Given the description of an element on the screen output the (x, y) to click on. 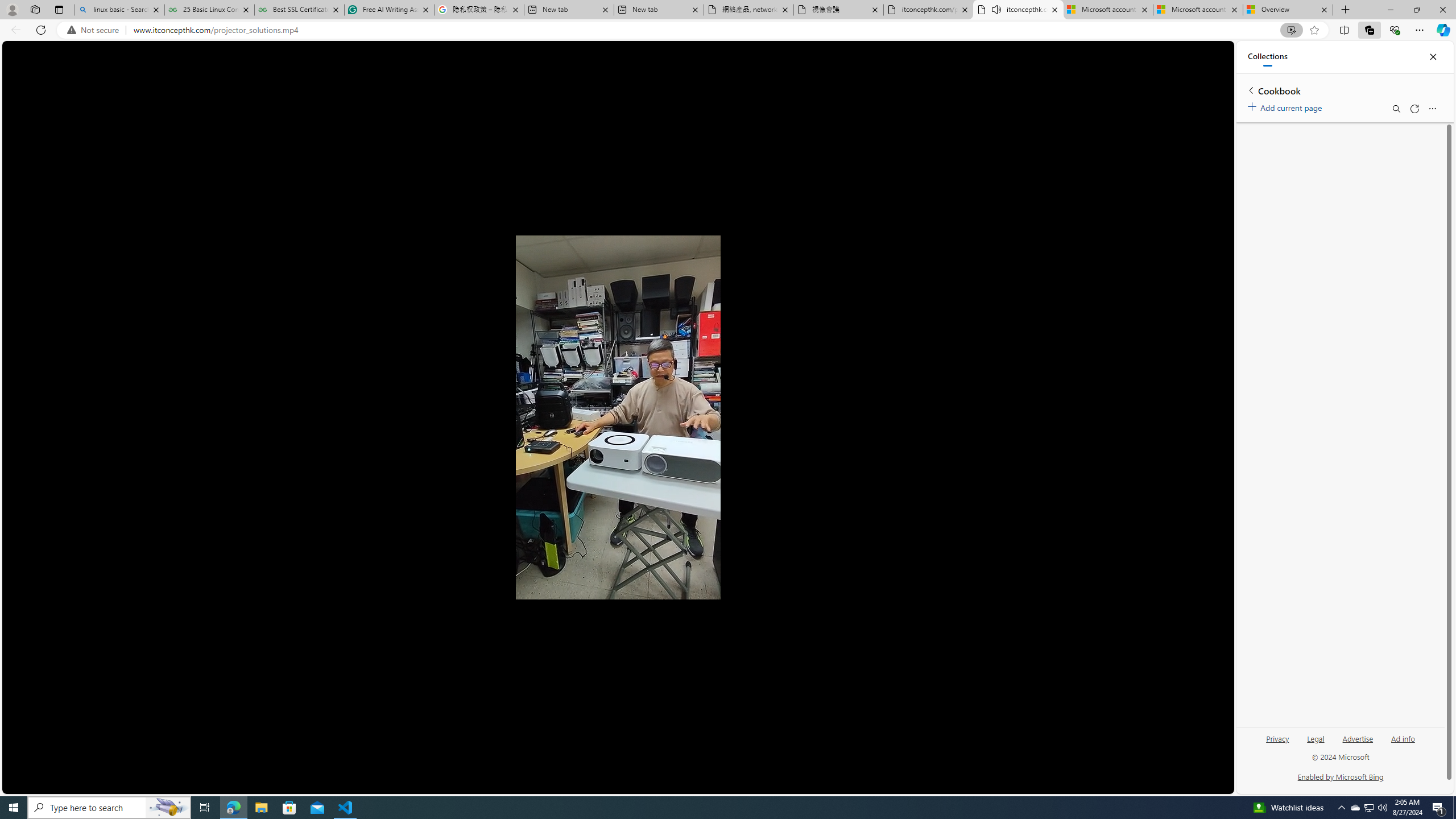
Enhance video (1291, 29)
